Given the description of an element on the screen output the (x, y) to click on. 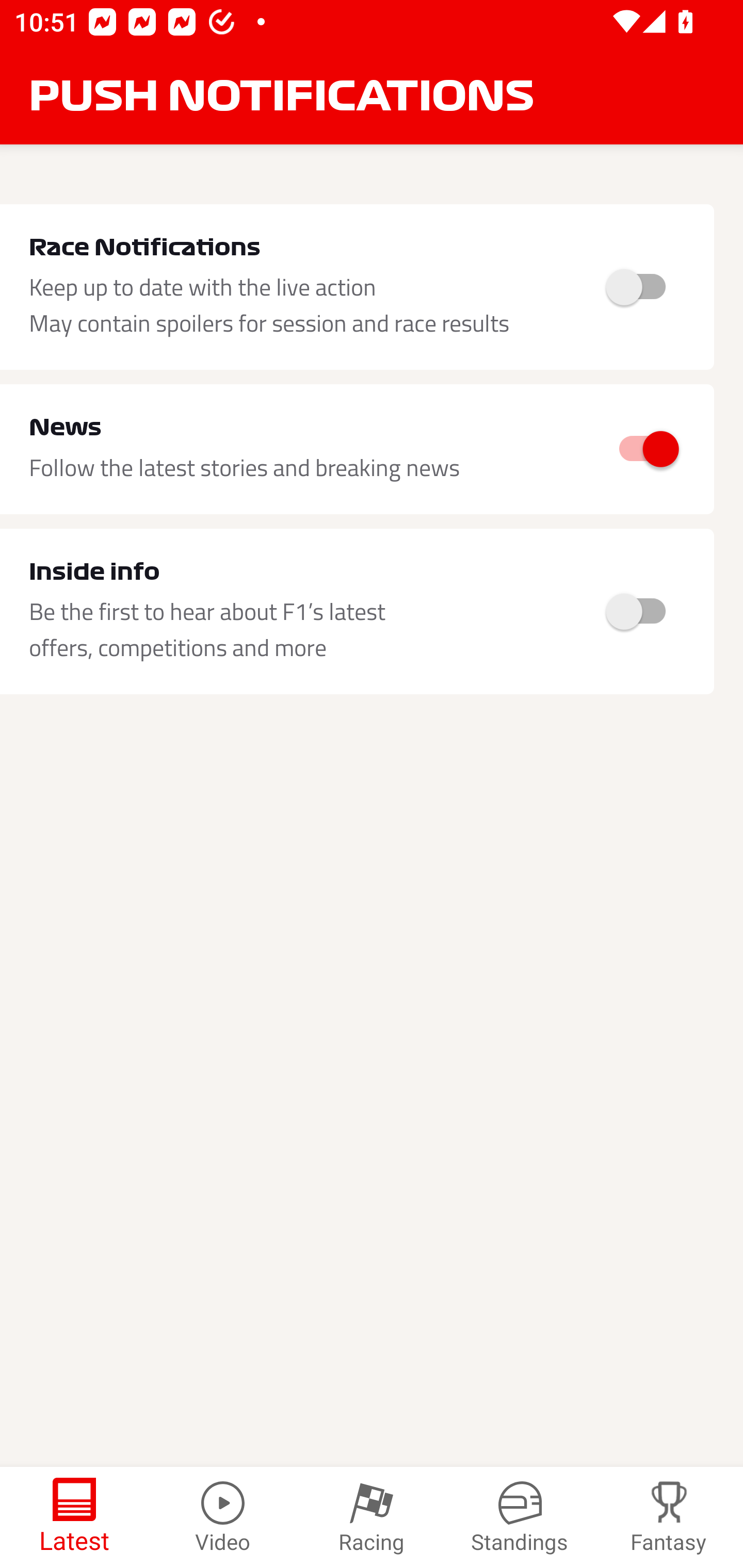
Video (222, 1517)
Racing (371, 1517)
Standings (519, 1517)
Fantasy (668, 1517)
